Given the description of an element on the screen output the (x, y) to click on. 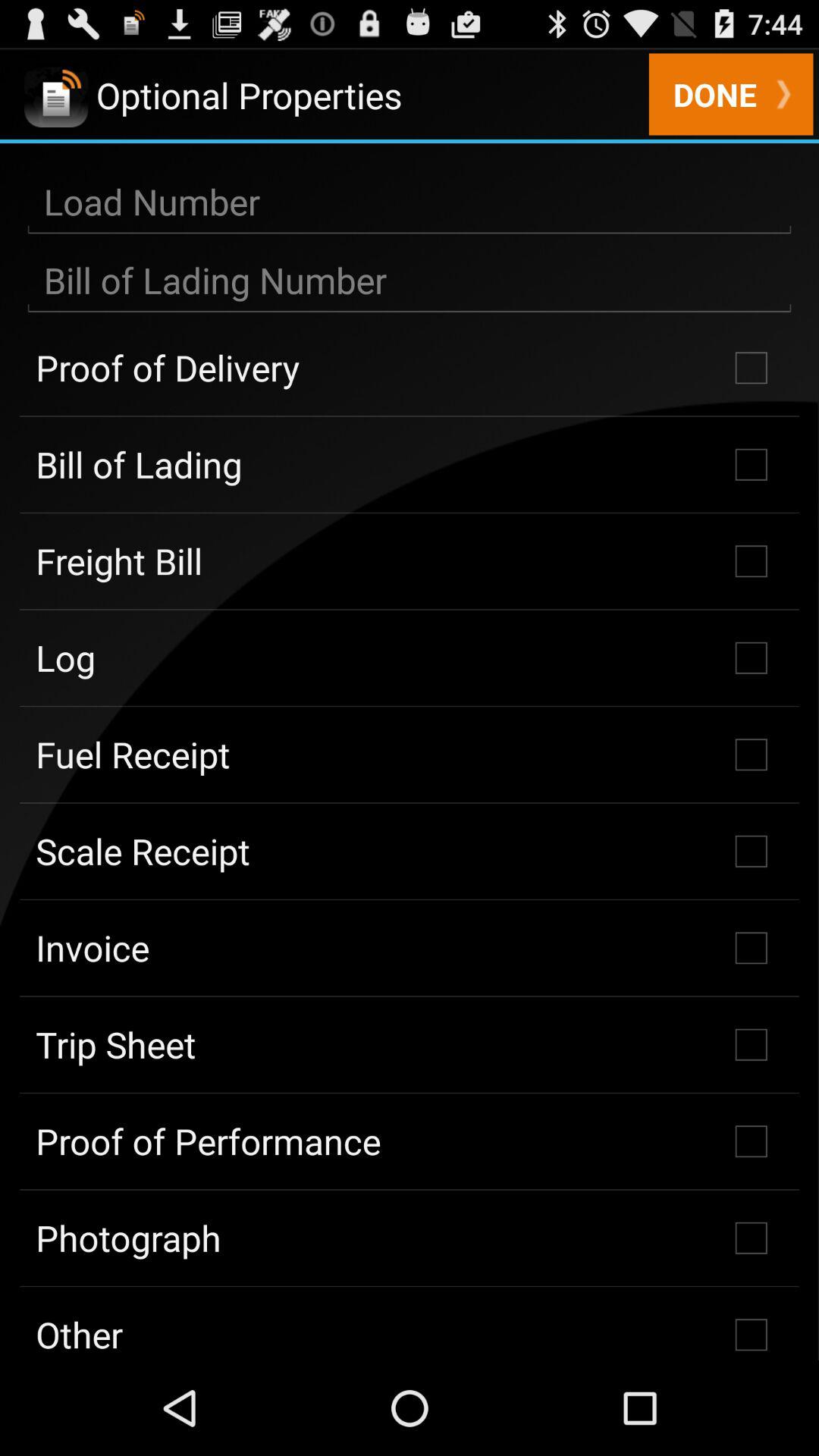
load number (409, 202)
